Given the description of an element on the screen output the (x, y) to click on. 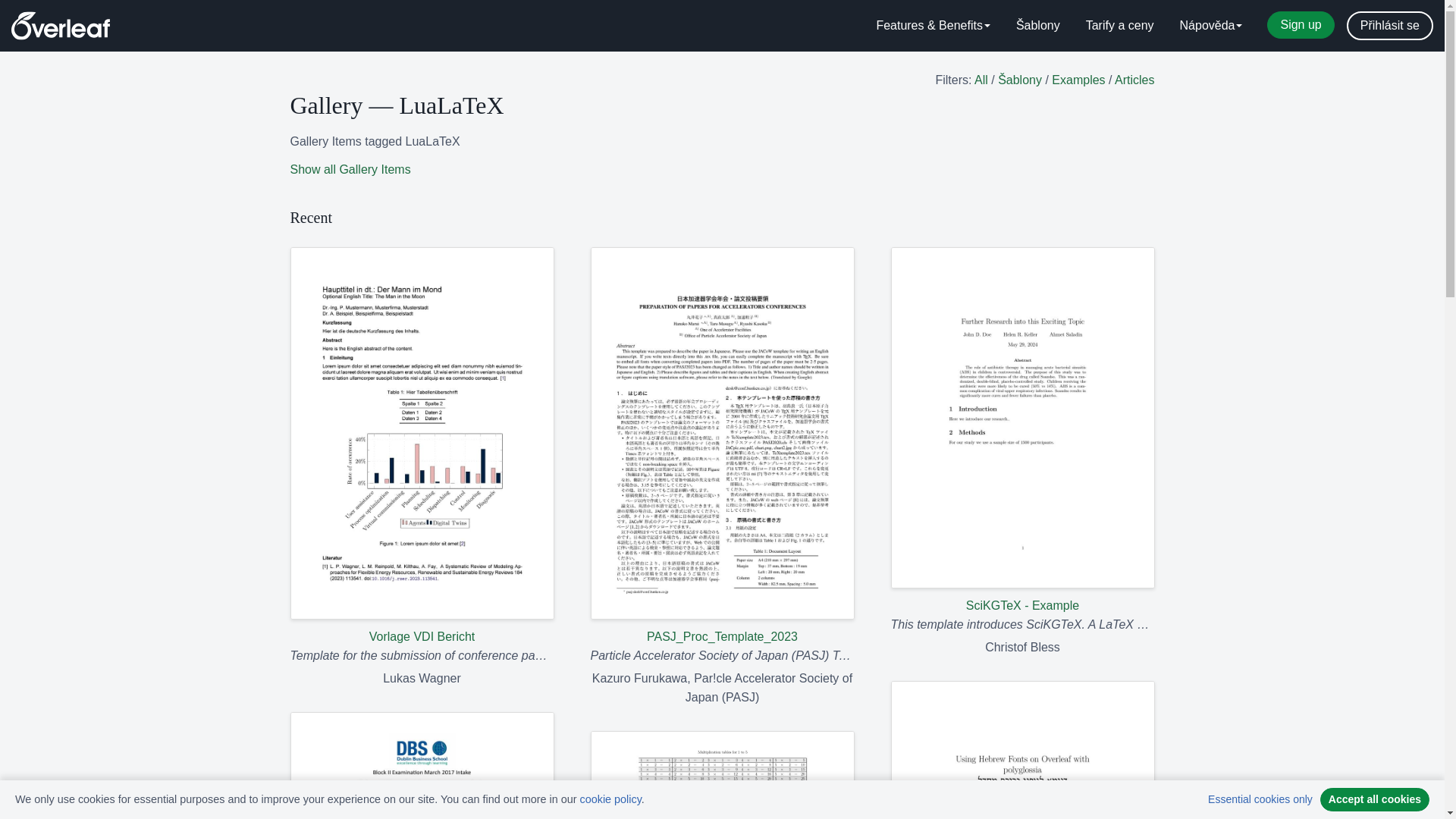
Examples (1078, 79)
Tarify a ceny (1120, 25)
Sign up (1299, 24)
Show all Gallery Items (349, 169)
DBS Exam Template (421, 765)
Example Hebrew Fonts (1021, 749)
All (981, 79)
Multiplication tables using LuaLaTeX (721, 775)
Articles (1134, 79)
